Given the description of an element on the screen output the (x, y) to click on. 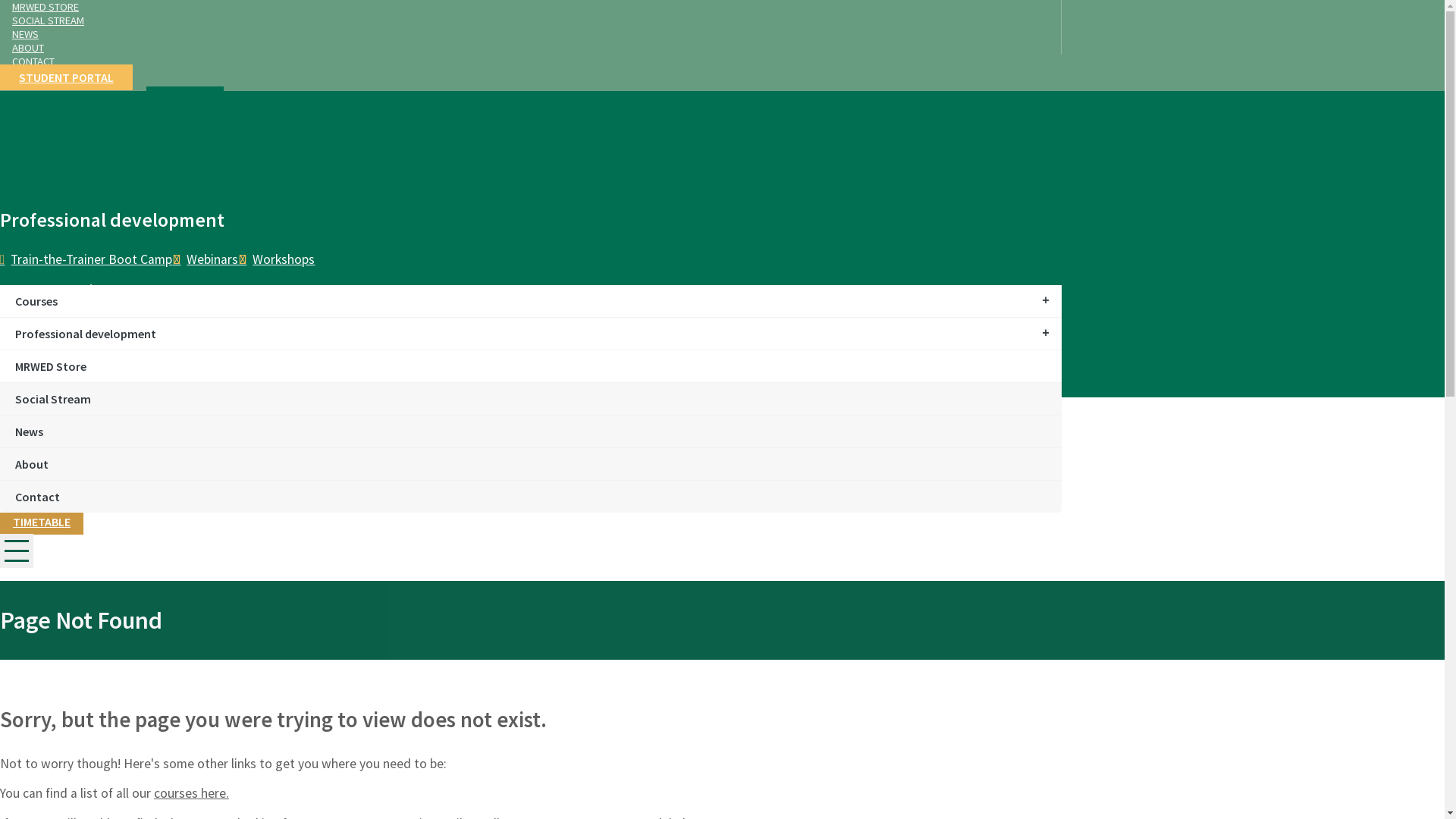
MRWED Element type: text (86, 186)
Train-the-Trainer Boot Camp Element type: text (86, 259)
Skill Sets Element type: text (179, 292)
+
Professional development Element type: text (530, 333)
About Element type: text (530, 464)
STUDENT PORTAL Element type: text (66, 77)
courses here. Element type: text (191, 792)
contactus@mrwed.edu.au Element type: text (77, 352)
TAE50116 Diploma of Vocational Education and Training Element type: text (443, 267)
TAE50216 Diploma of Training Design and Development Element type: text (209, 275)
TIMETABLE Element type: text (41, 263)
CONTACT Element type: text (530, 61)
contactus@mrwed.edu.au Element type: text (77, 318)
COURSES Element type: text (66, 216)
Webinars Element type: text (205, 259)
MRWED STORE Element type: text (530, 6)
Search Element type: text (184, 100)
SOCIAL STREAM Element type: text (530, 20)
STUDENT PORTAL Element type: text (146, 263)
Contact Element type: text (530, 496)
News Element type: text (530, 431)
1800 287 246 Element type: text (194, 318)
TIMETABLE Element type: text (41, 521)
TAEASS502 Design and develop assessment tools Element type: text (447, 284)
MRWED Store Element type: text (530, 366)
PROFESSIONAL DEVELOPMENT Element type: text (121, 233)
Workshops Element type: text (276, 259)
NEWS Element type: text (530, 33)
ABOUT Element type: text (530, 47)
Social Stream Element type: text (530, 398)
1800 287 246 Element type: text (194, 352)
TAE40116 Certificate IV in Training and Assessment Element type: text (452, 259)
+
Courses Element type: text (530, 300)
TAE40122 Certificate IV in Training and Assessment Element type: text (150, 259)
